Given the description of an element on the screen output the (x, y) to click on. 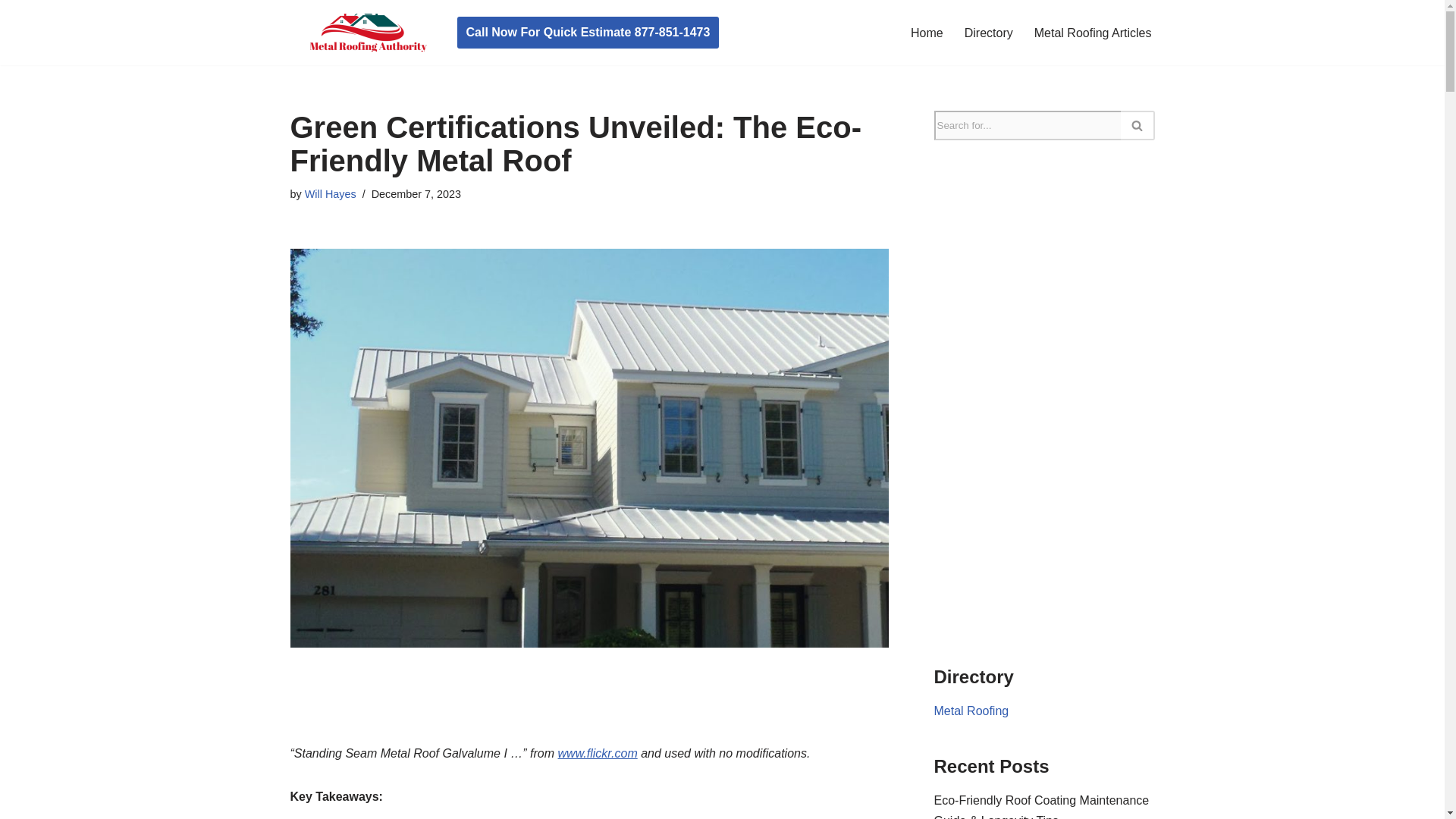
Will Hayes (330, 193)
Directory (988, 32)
Skip to content (11, 31)
Metal Roofing Articles (1092, 32)
Posts by Will Hayes (330, 193)
www.flickr.com (597, 753)
Metal Roofing (971, 710)
Call Now For Quick Estimate 877-851-1473 (588, 32)
Home (927, 32)
